Given the description of an element on the screen output the (x, y) to click on. 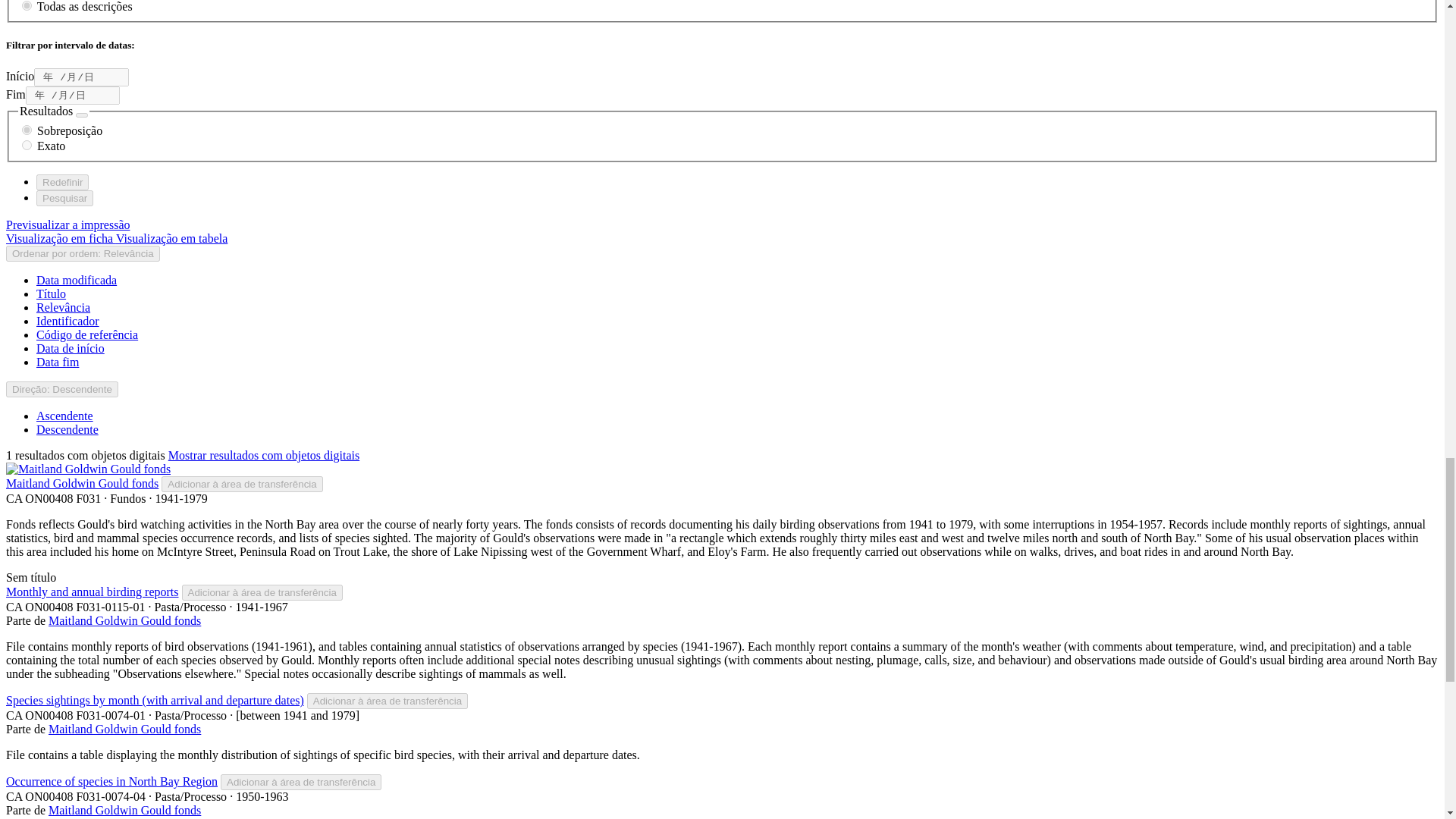
Pesquisar (64, 198)
0 (26, 5)
Redefinir (62, 182)
inclusive (26, 130)
exact (26, 144)
